Given the description of an element on the screen output the (x, y) to click on. 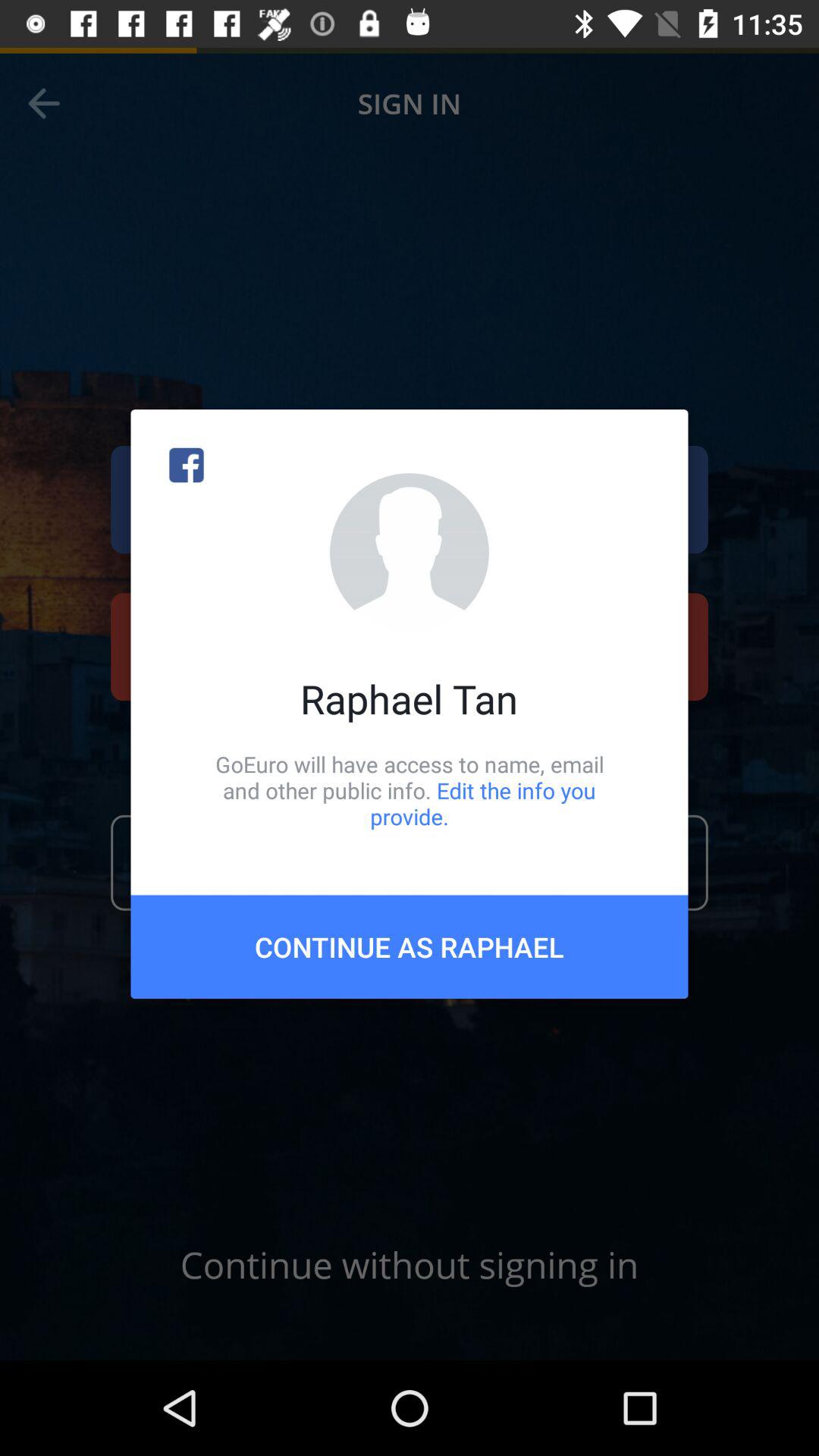
swipe until the continue as raphael item (409, 946)
